Given the description of an element on the screen output the (x, y) to click on. 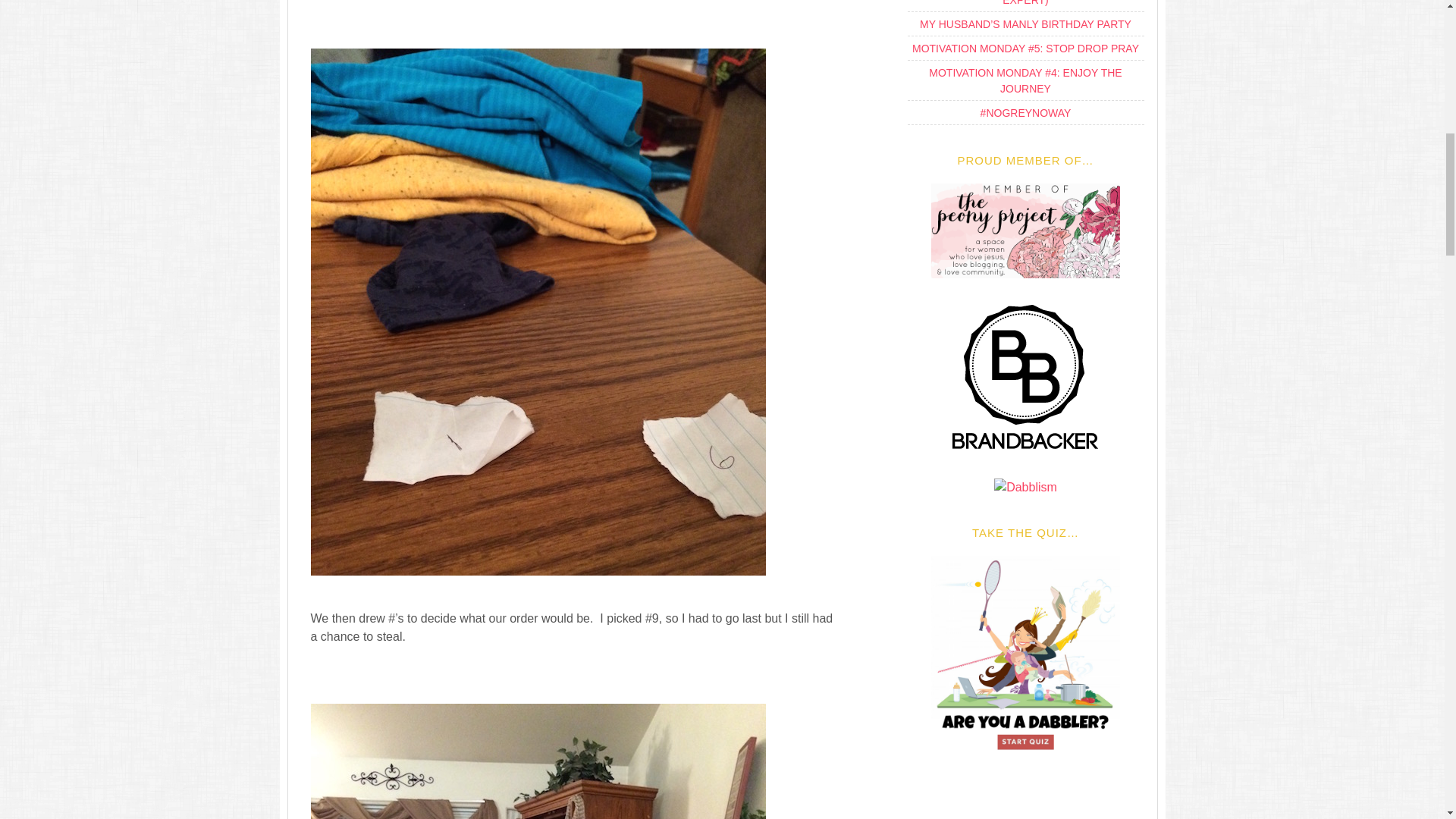
BrandBacker Member (1024, 450)
